Given the description of an element on the screen output the (x, y) to click on. 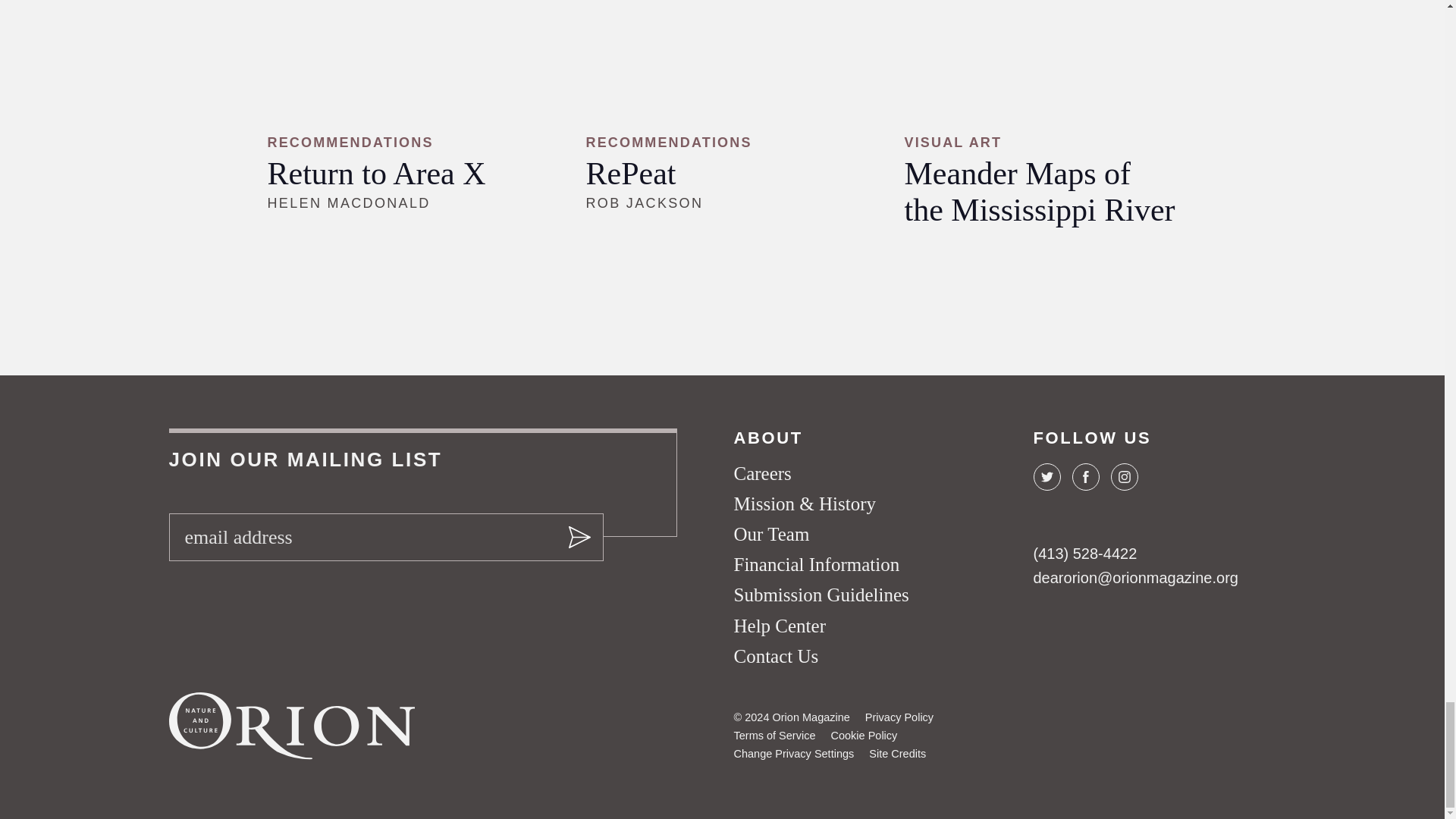
On Facebook (1085, 476)
On Instagram (1123, 476)
On Twitter (1045, 476)
